Given the description of an element on the screen output the (x, y) to click on. 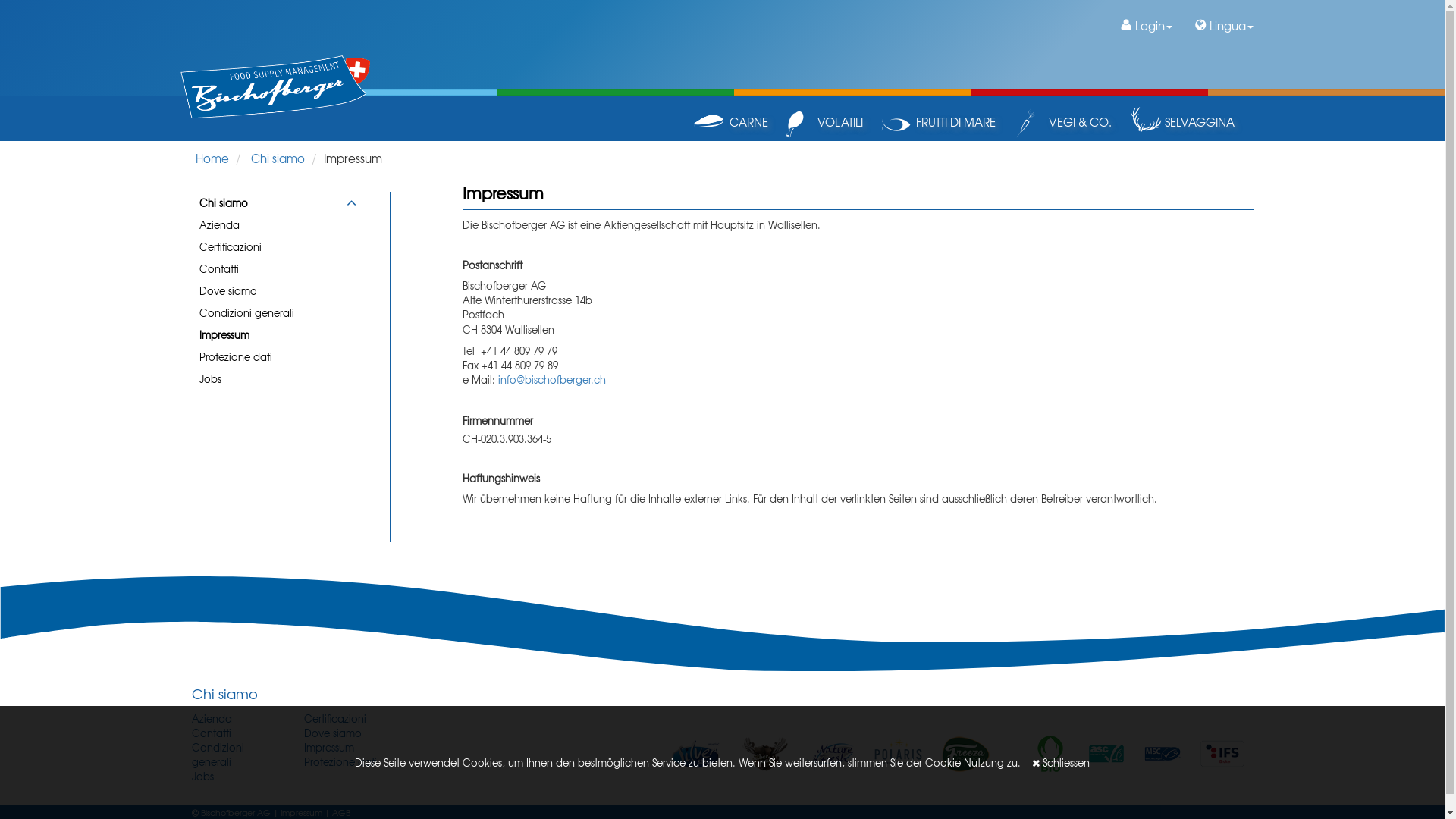
CARNE Element type: text (731, 122)
Impressum Element type: text (329, 747)
VOLATILI Element type: text (824, 122)
Certificazioni Element type: text (335, 718)
Home Element type: text (212, 158)
Contatti Element type: text (264, 268)
Contatti Element type: text (210, 732)
Impressum Element type: text (301, 812)
Protezione dati Element type: text (264, 356)
Condizioni generali Element type: text (217, 754)
Chi siamo Element type: text (277, 158)
Impressum Element type: text (264, 334)
Condizioni generali Element type: text (264, 312)
Protezione dati Element type: text (340, 761)
VEGI & CO. Element type: text (1063, 122)
Lingua Element type: text (1223, 26)
SELVAGGINA Element type: text (1181, 122)
Certificazioni Element type: text (264, 246)
info@bischofberger.ch Element type: text (551, 379)
Jobs Element type: text (202, 775)
Chi siamo Element type: text (224, 693)
FRUTTI DI MARE Element type: text (937, 122)
Cookie-Nutzung Element type: text (964, 762)
Azienda Element type: text (211, 718)
Schliessen Element type: text (1060, 762)
Dove siamo Element type: text (332, 732)
Dove siamo Element type: text (264, 290)
Chi siamo Element type: text (264, 202)
Login Element type: text (1145, 26)
AGB Element type: text (341, 812)
Azienda Element type: text (264, 224)
Jobs Element type: text (264, 378)
